Given the description of an element on the screen output the (x, y) to click on. 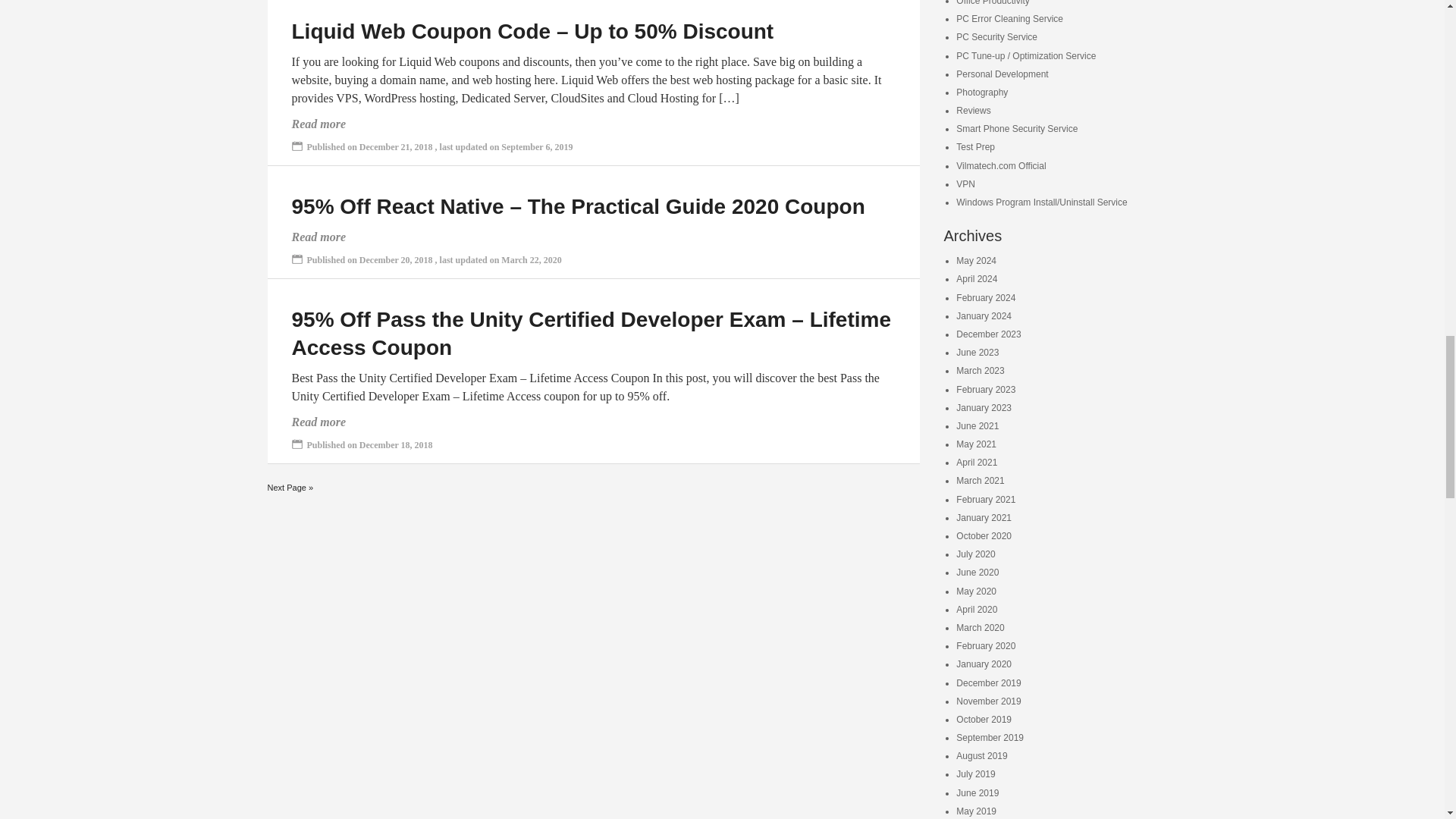
Read more (318, 123)
Read more (318, 236)
Read more (318, 421)
